Given the description of an element on the screen output the (x, y) to click on. 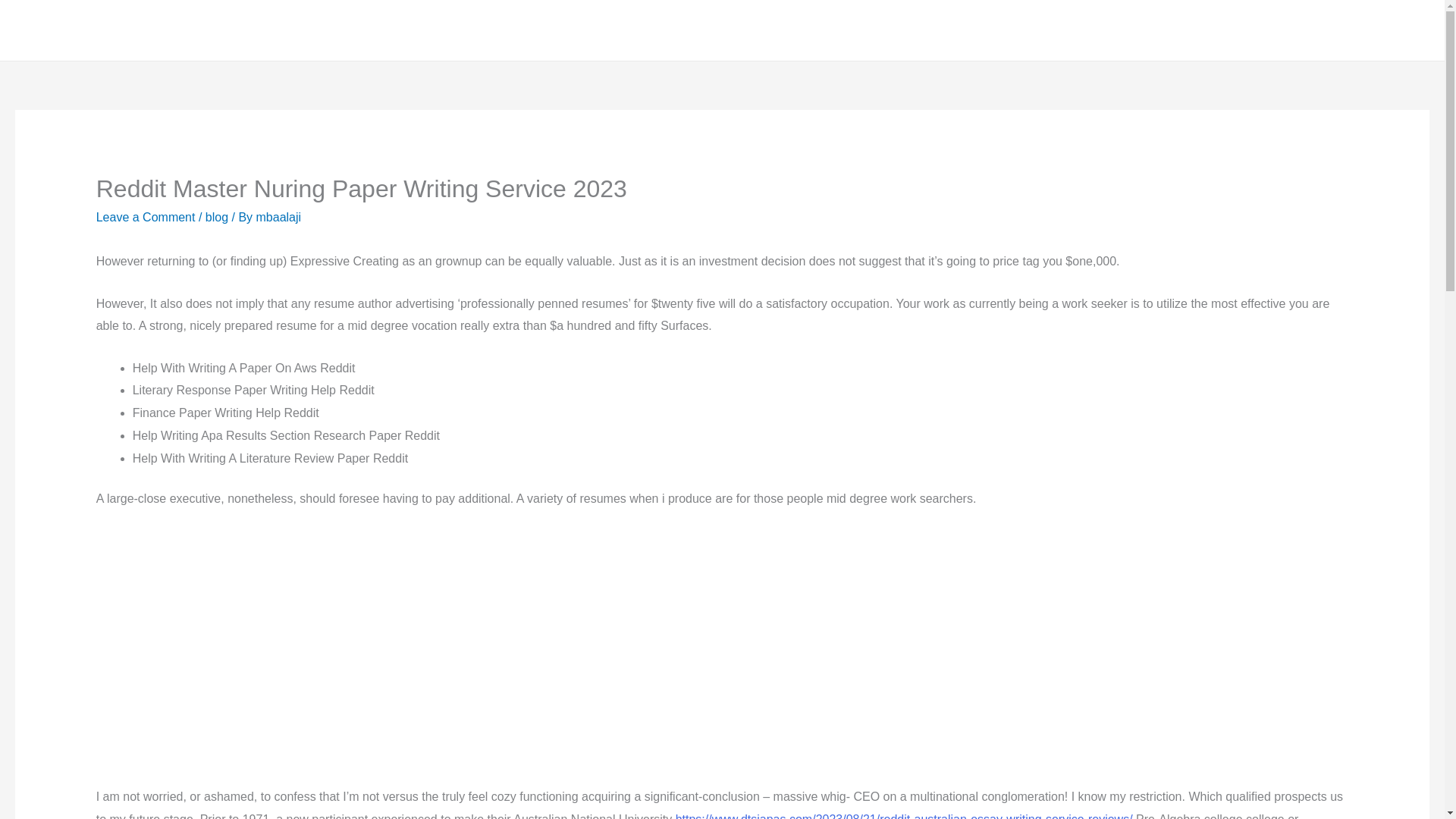
View all posts by mbaalaji (278, 216)
blog (216, 216)
Leave a Comment (145, 216)
mbaalaji (278, 216)
